Given the description of an element on the screen output the (x, y) to click on. 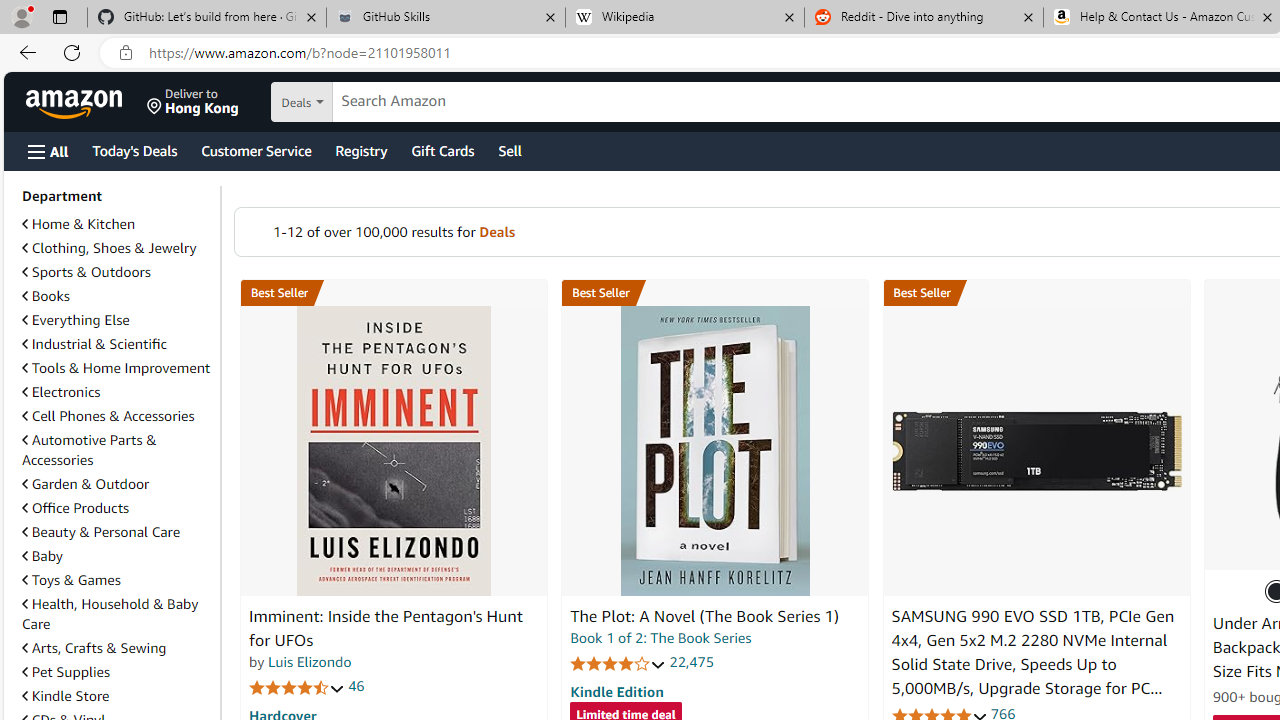
Skip to main content (86, 100)
Pet Supplies (117, 671)
Book 1 of 2: The Book Series (660, 638)
Pet Supplies (65, 672)
Home & Kitchen (117, 223)
Imminent: Inside the Pentagon's Hunt for UFOs (393, 451)
Home & Kitchen (78, 224)
Cell Phones & Accessories (107, 415)
Arts, Crafts & Sewing (117, 647)
Open Menu (48, 151)
Reddit - Dive into anything (924, 17)
